Given the description of an element on the screen output the (x, y) to click on. 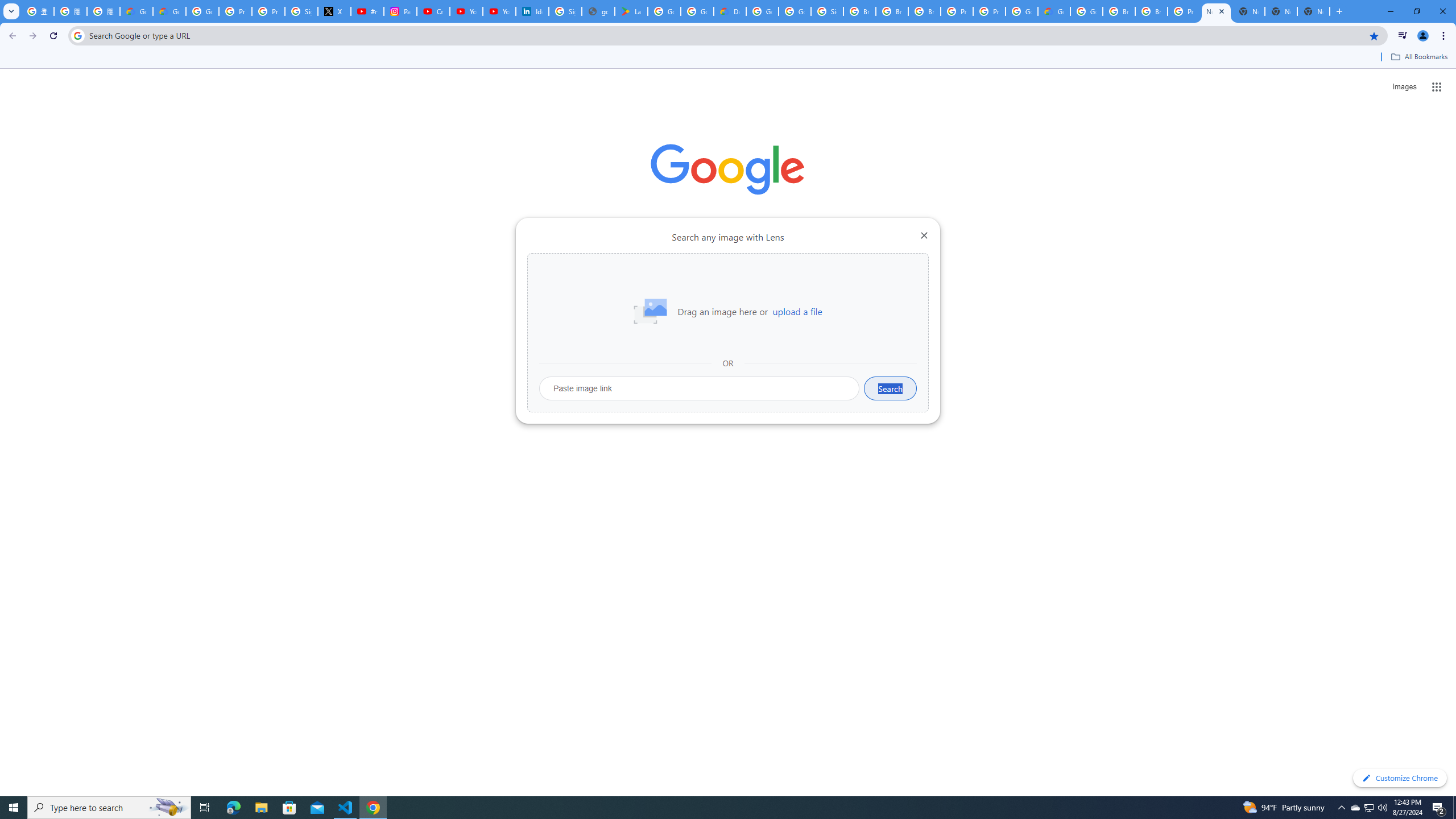
#nbabasketballhighlights - YouTube (367, 11)
Sign in - Google Accounts (301, 11)
